Given the description of an element on the screen output the (x, y) to click on. 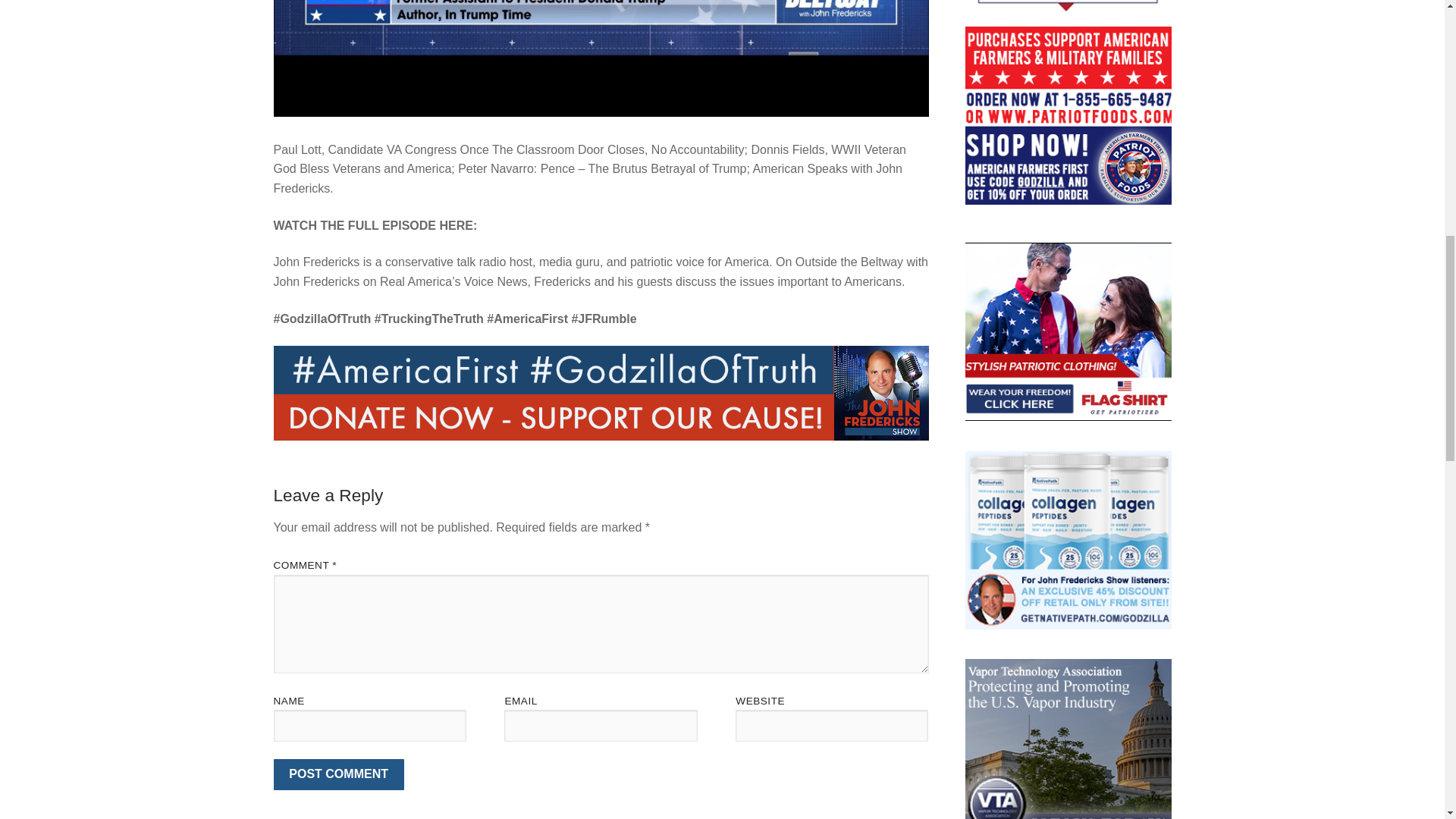
Post Comment (338, 775)
Post Comment (338, 775)
